Given the description of an element on the screen output the (x, y) to click on. 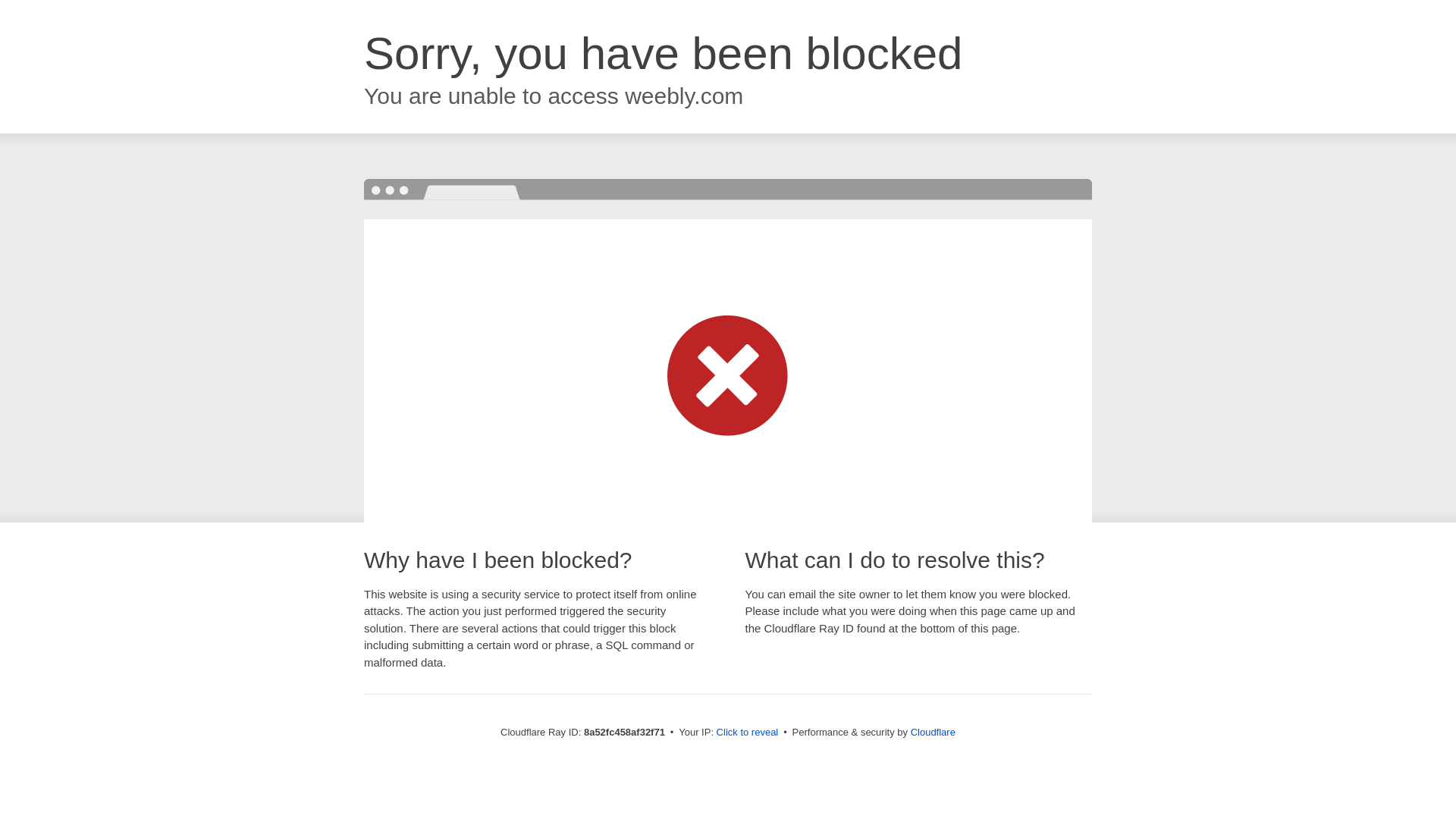
Click to reveal (747, 732)
Cloudflare (933, 731)
